Given the description of an element on the screen output the (x, y) to click on. 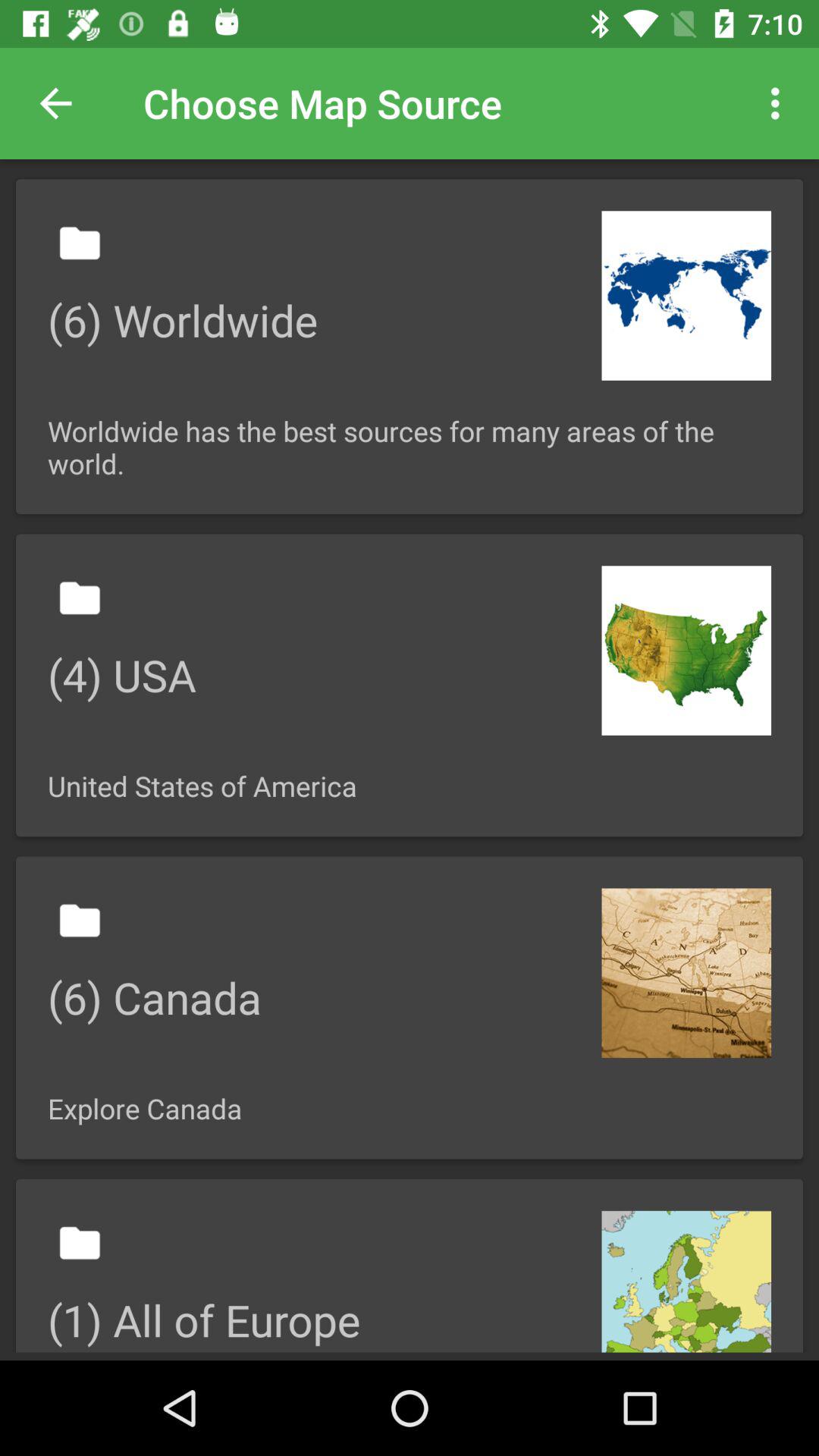
turn on icon next to choose map source (779, 103)
